Given the description of an element on the screen output the (x, y) to click on. 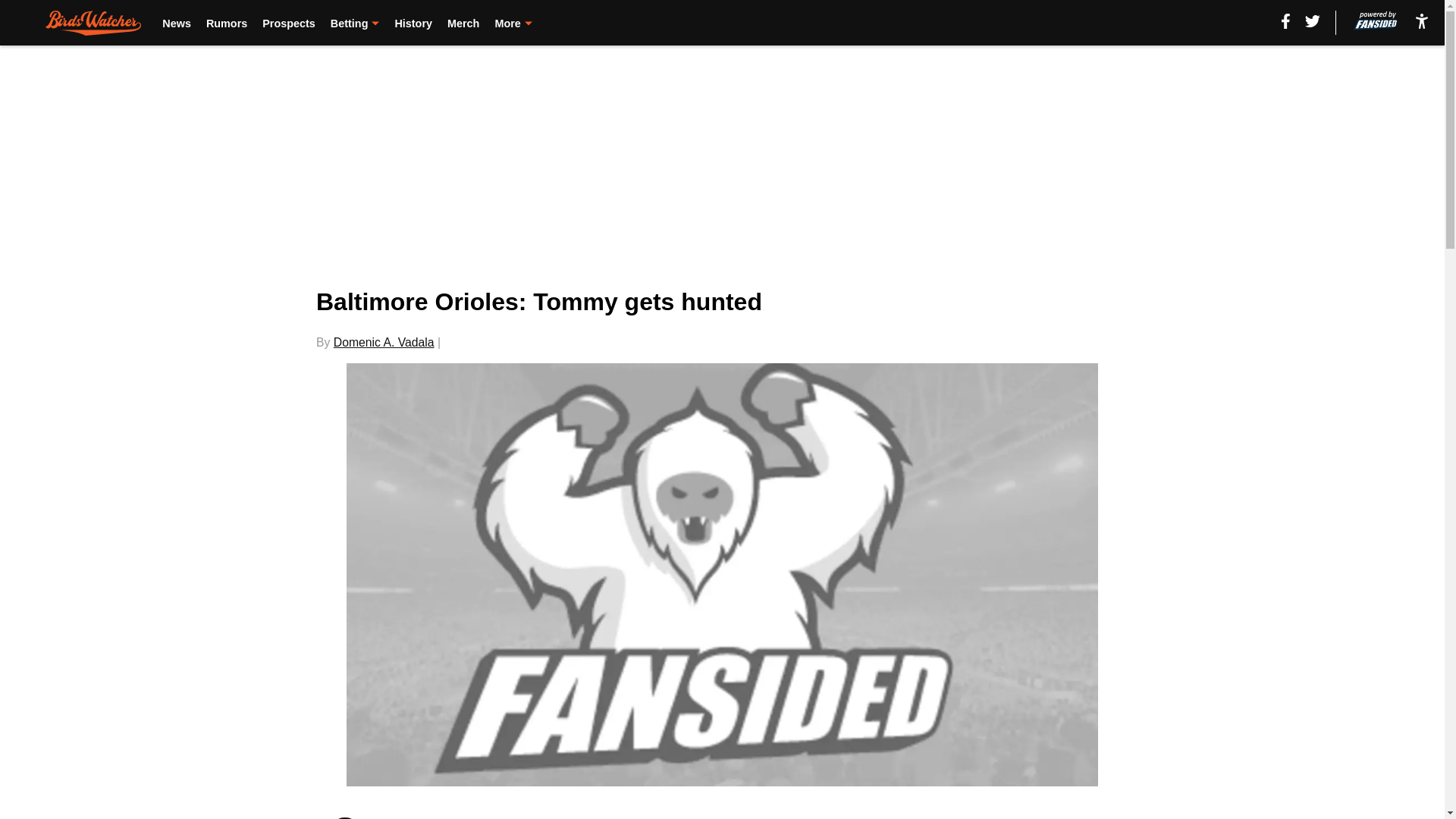
Domenic A. Vadala (383, 341)
History (413, 23)
Prospects (288, 23)
Rumors (226, 23)
Merch (462, 23)
News (175, 23)
